Given the description of an element on the screen output the (x, y) to click on. 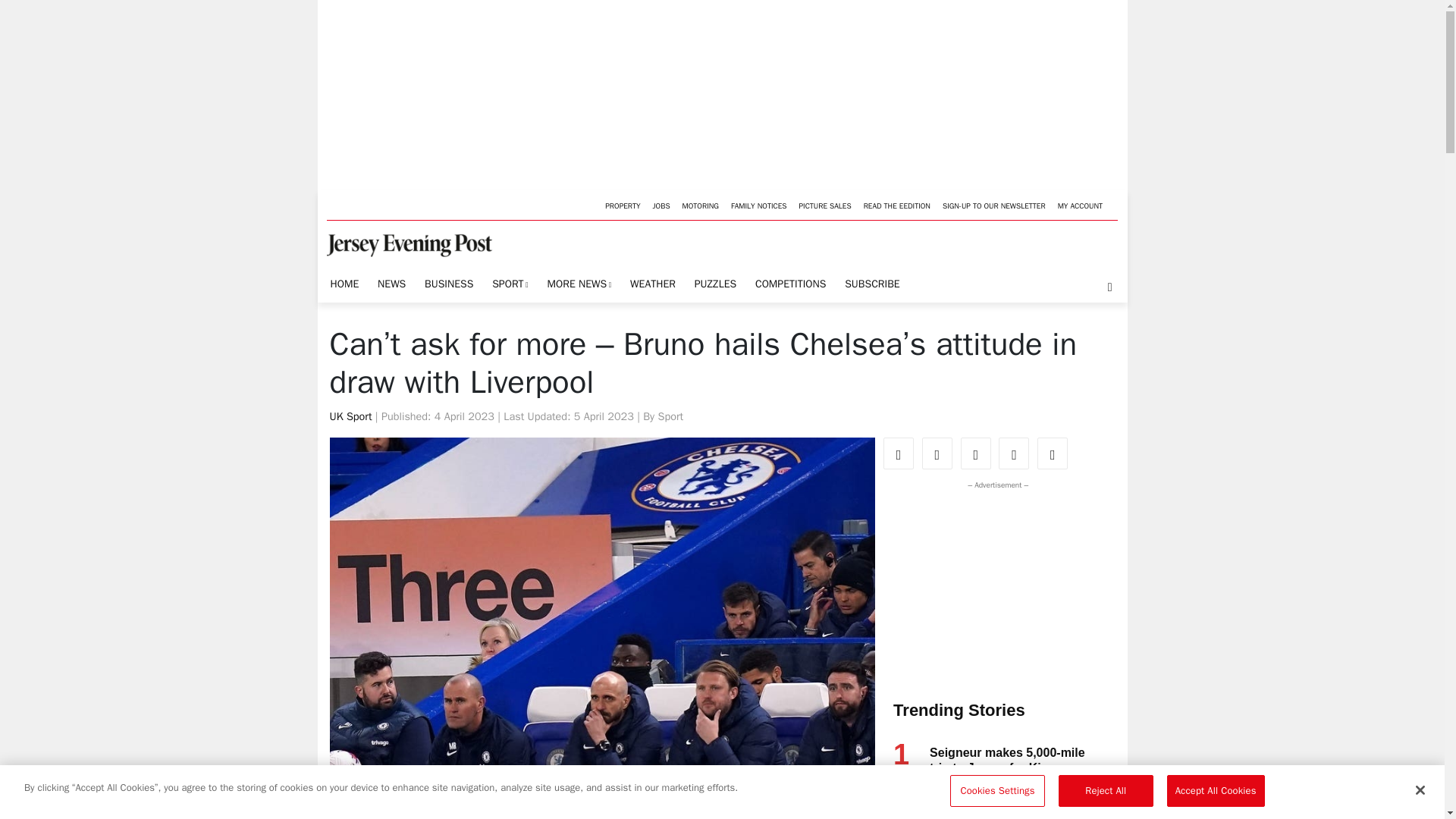
PUZZLES (714, 284)
SUBSCRIBE (871, 284)
MY ACCOUNT (1079, 205)
SIGN-UP TO OUR NEWSLETTER (993, 205)
COMPETITIONS (790, 284)
NEWS (391, 284)
MORE NEWS (579, 284)
WEATHER (652, 284)
SPORT (509, 284)
HOME (344, 284)
PICTURE SALES (824, 205)
MOTORING (701, 205)
3rd party ad content (994, 587)
JOBS (661, 205)
